Given the description of an element on the screen output the (x, y) to click on. 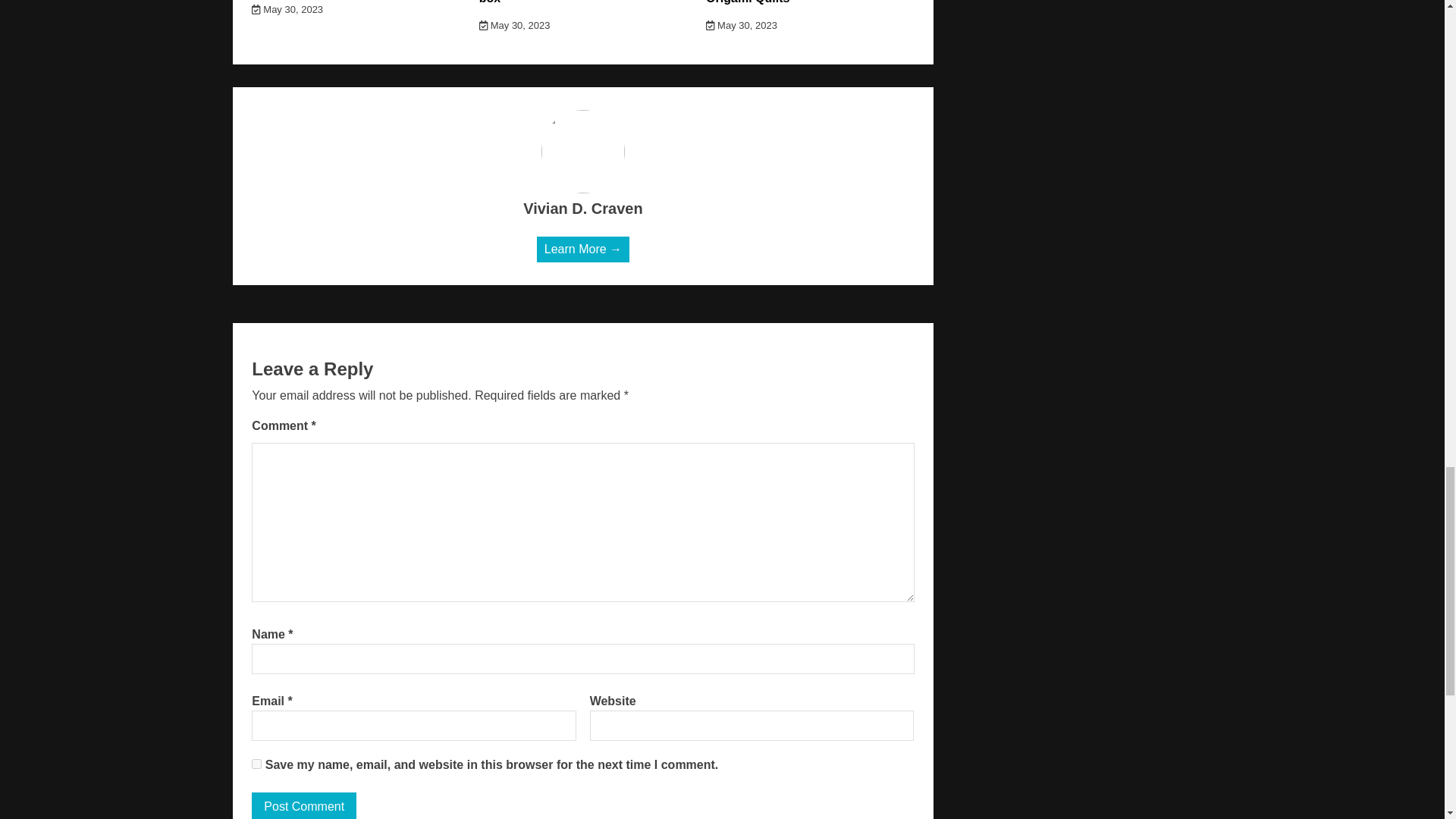
Post Comment (303, 805)
May 30, 2023 (287, 9)
Post Comment (303, 805)
How to create stylish wall art with Origami Quilts (802, 2)
May 30, 2023 (514, 25)
How to make a folded paper gift box (570, 2)
yes (256, 764)
May 30, 2023 (741, 25)
